Given the description of an element on the screen output the (x, y) to click on. 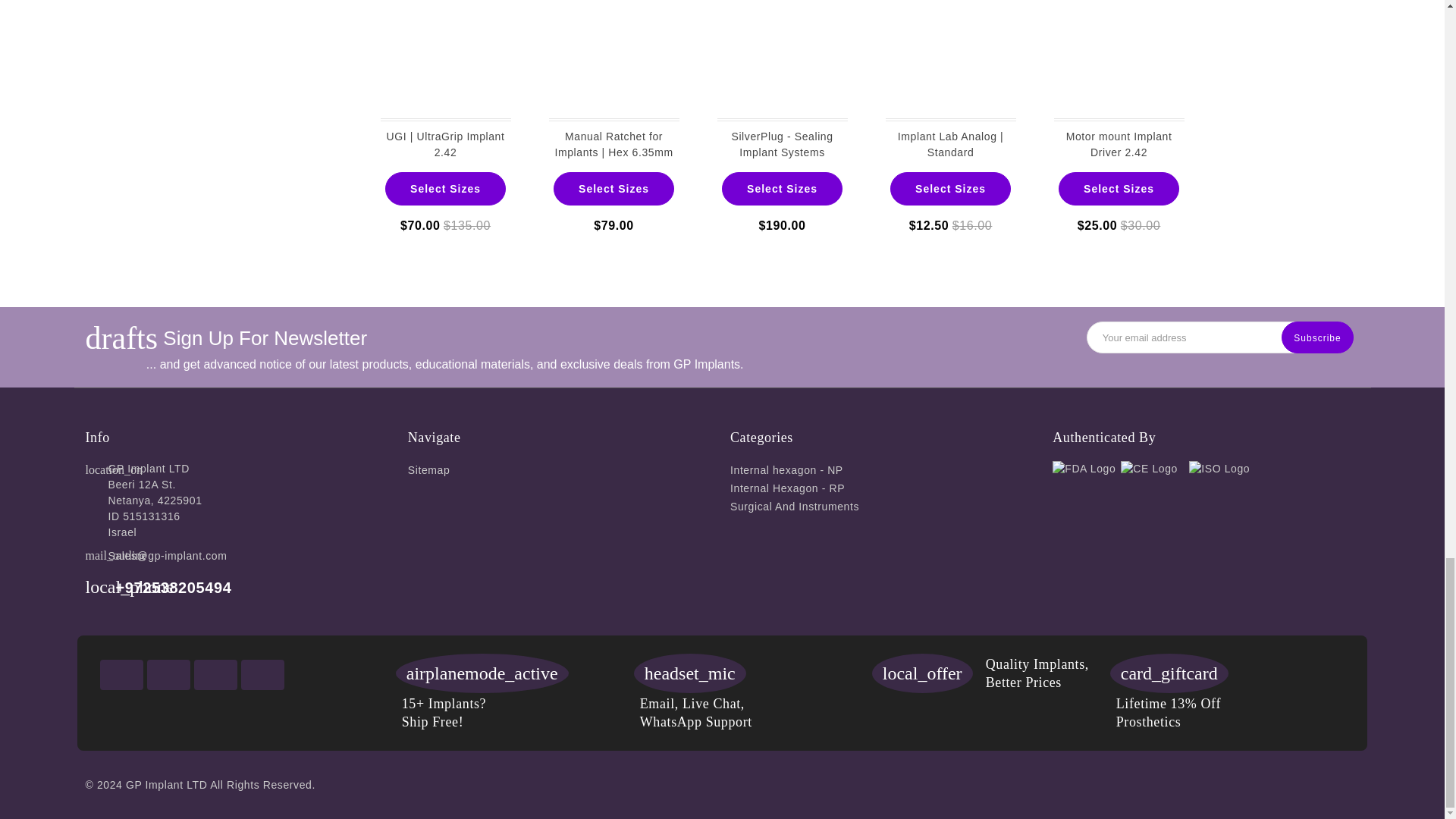
SilverPlug - Sealing Implant Systems (783, 60)
Subscribe (1316, 336)
